Given the description of an element on the screen output the (x, y) to click on. 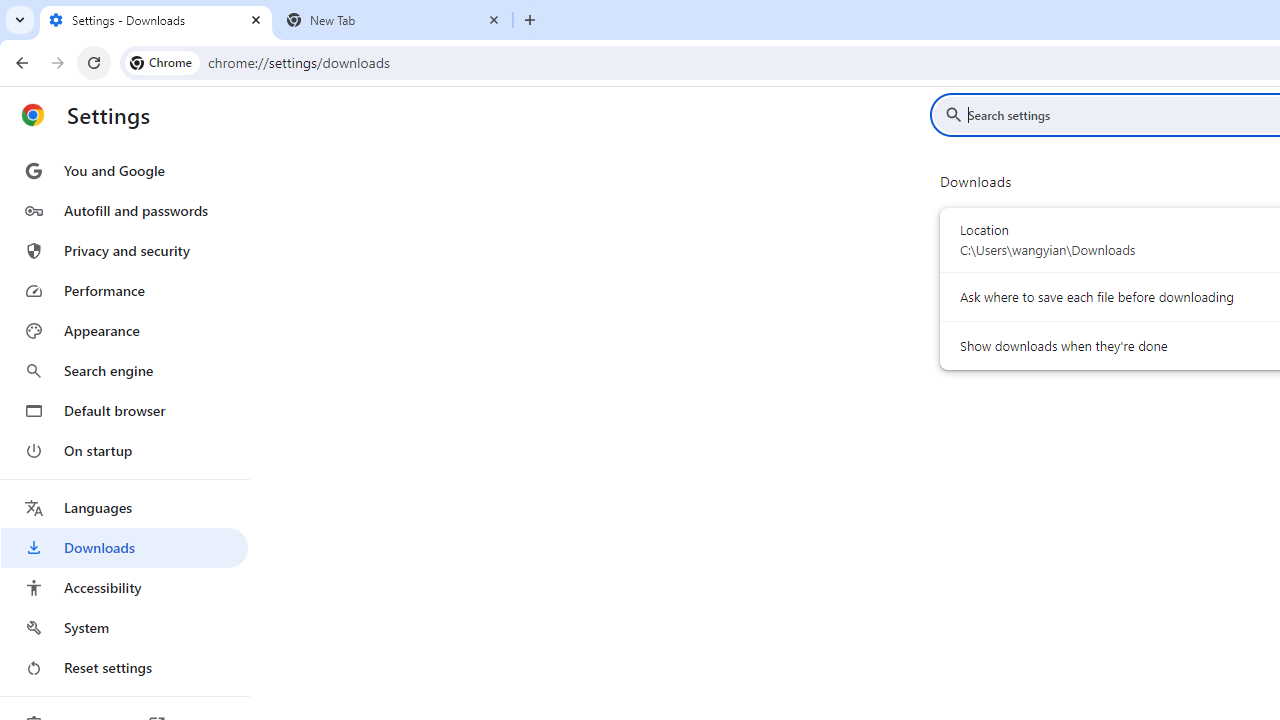
Reset settings (124, 668)
Search engine (124, 370)
Autofill and passwords (124, 210)
Accessibility (124, 587)
Settings - Downloads (156, 20)
New Tab (394, 20)
Languages (124, 507)
On startup (124, 450)
Performance (124, 290)
